Given the description of an element on the screen output the (x, y) to click on. 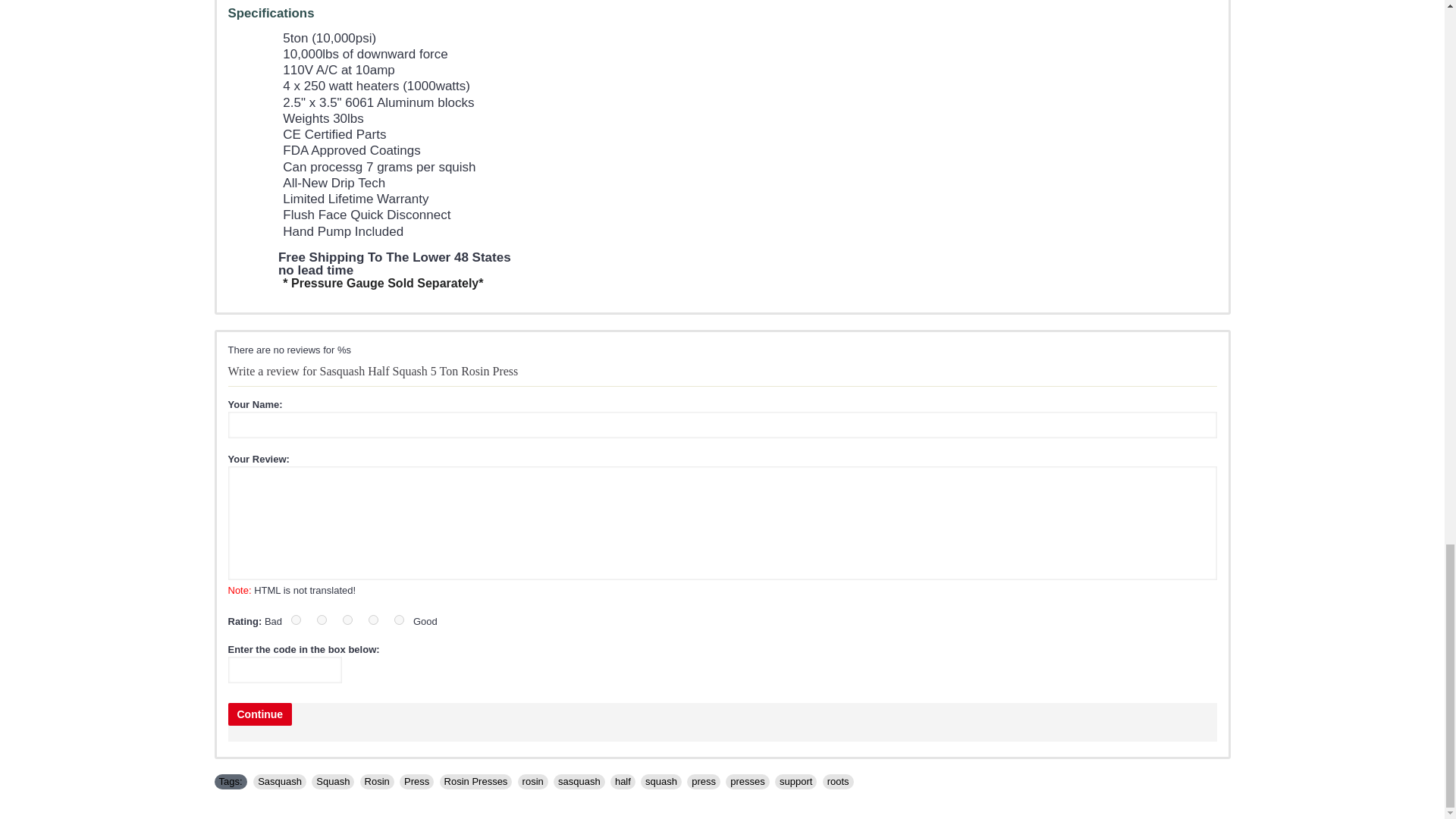
4 (373, 619)
1 (296, 619)
5 (399, 619)
3 (347, 619)
2 (321, 619)
